Given the description of an element on the screen output the (x, y) to click on. 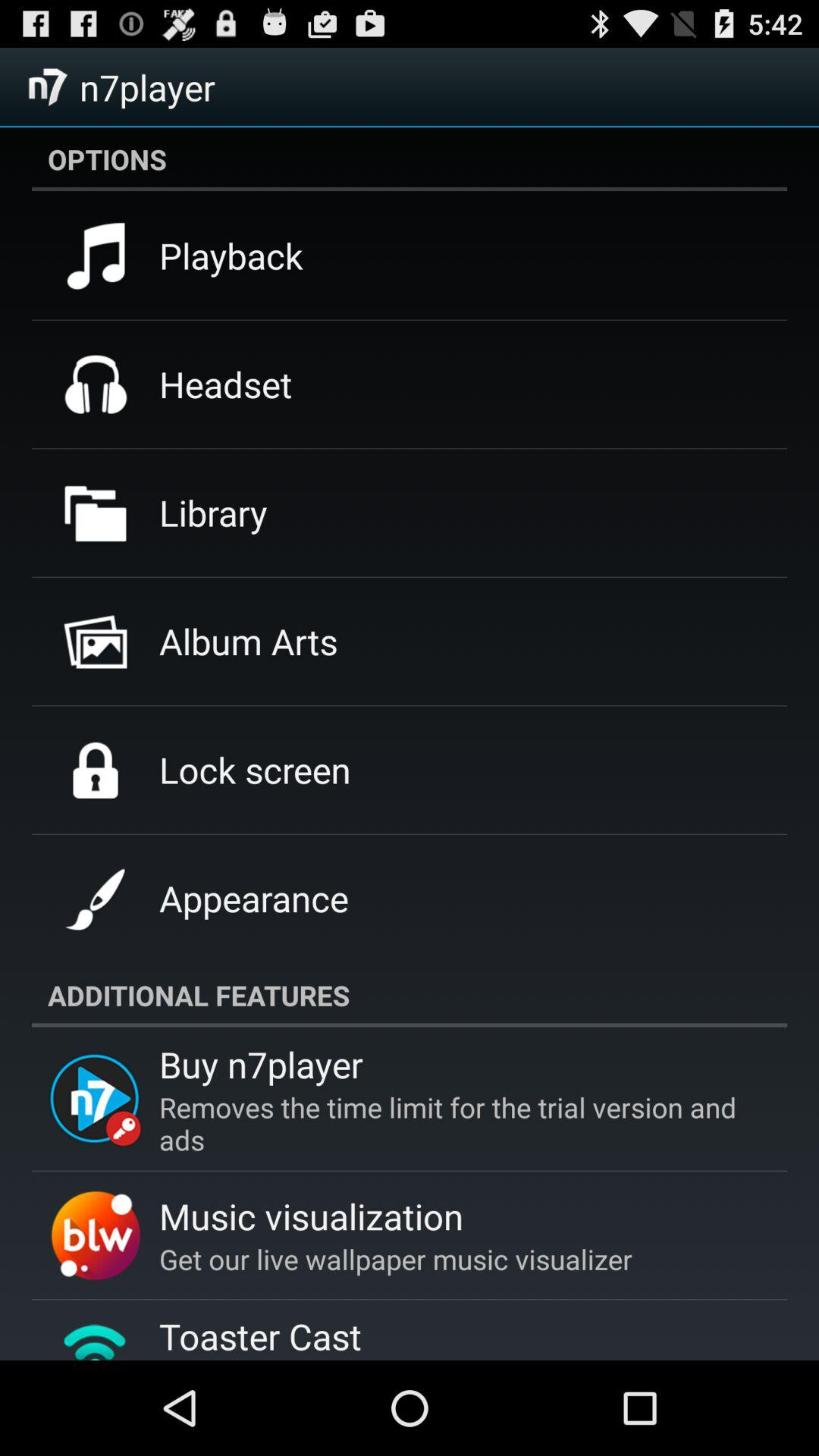
choose item below get our live icon (260, 1336)
